Given the description of an element on the screen output the (x, y) to click on. 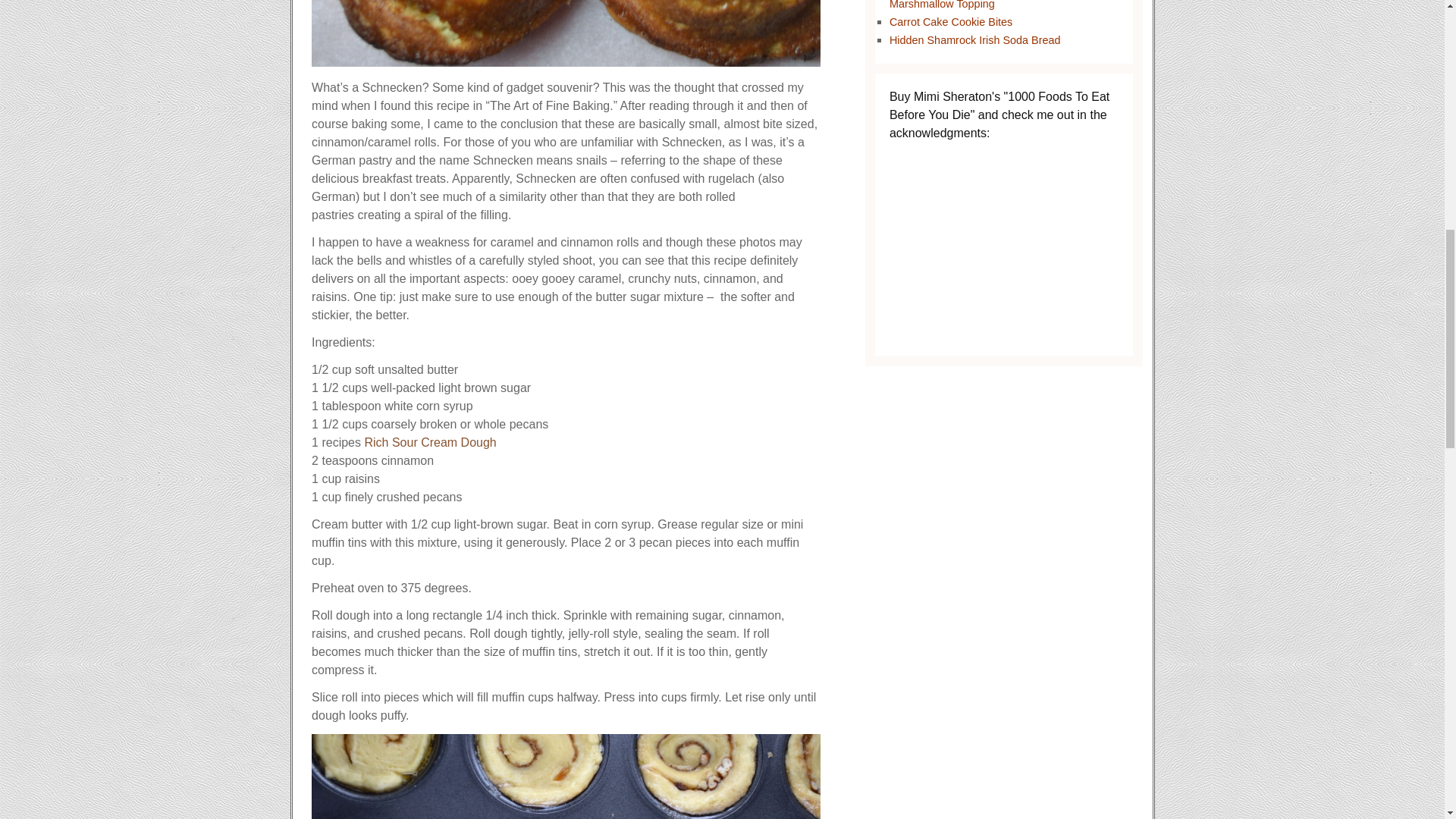
Pumpkin Banana Cream Pie Bars with Marshmallow Topping (982, 4)
Rich Sour Cream Dough (430, 441)
Schnecken After Rising (566, 776)
Rich Sour Cream Dough (430, 441)
